Given the description of an element on the screen output the (x, y) to click on. 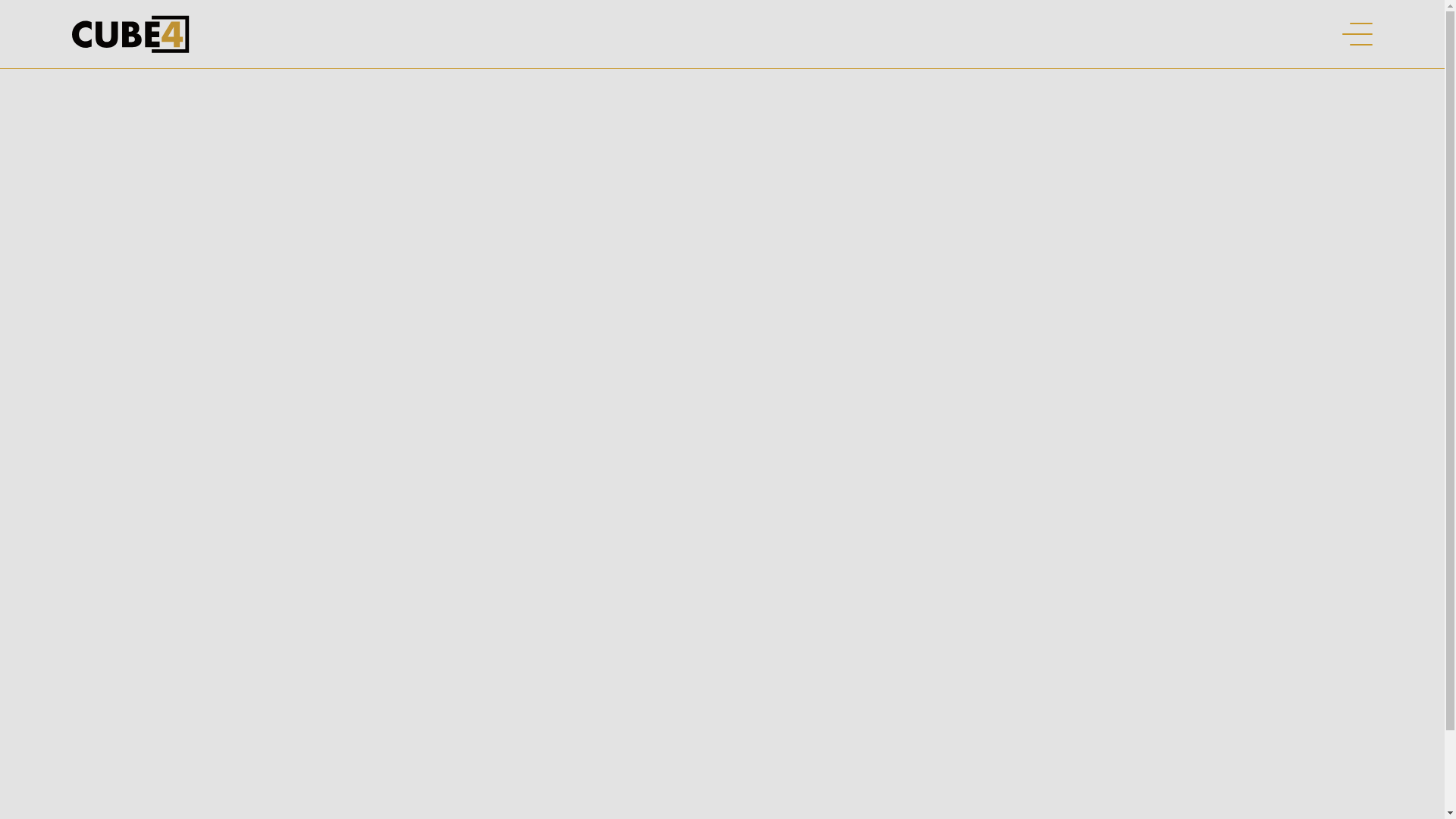
Cube 4 Building Services Element type: hover (130, 34)
